Given the description of an element on the screen output the (x, y) to click on. 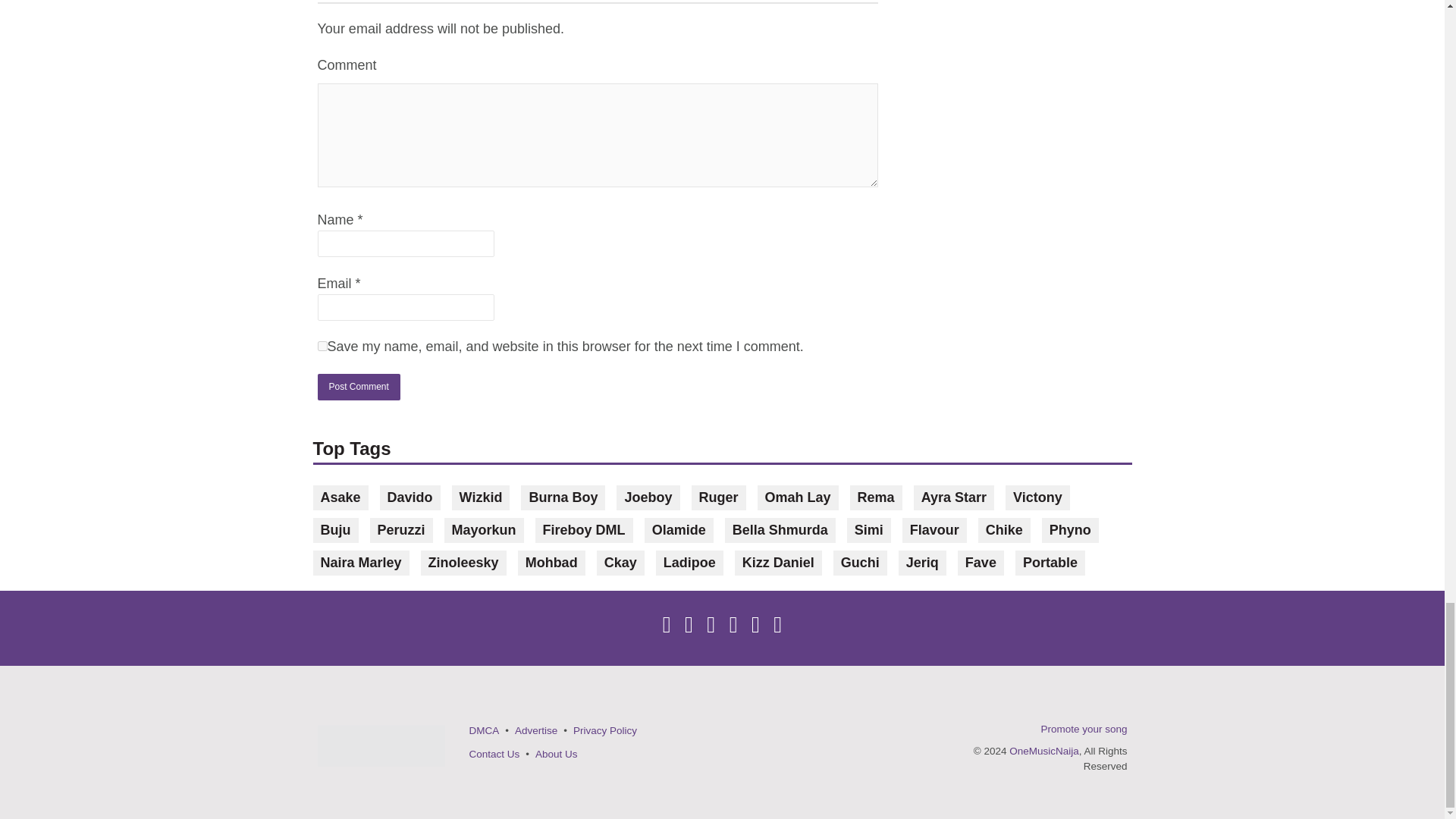
yes (321, 346)
Post Comment (357, 386)
